Given the description of an element on the screen output the (x, y) to click on. 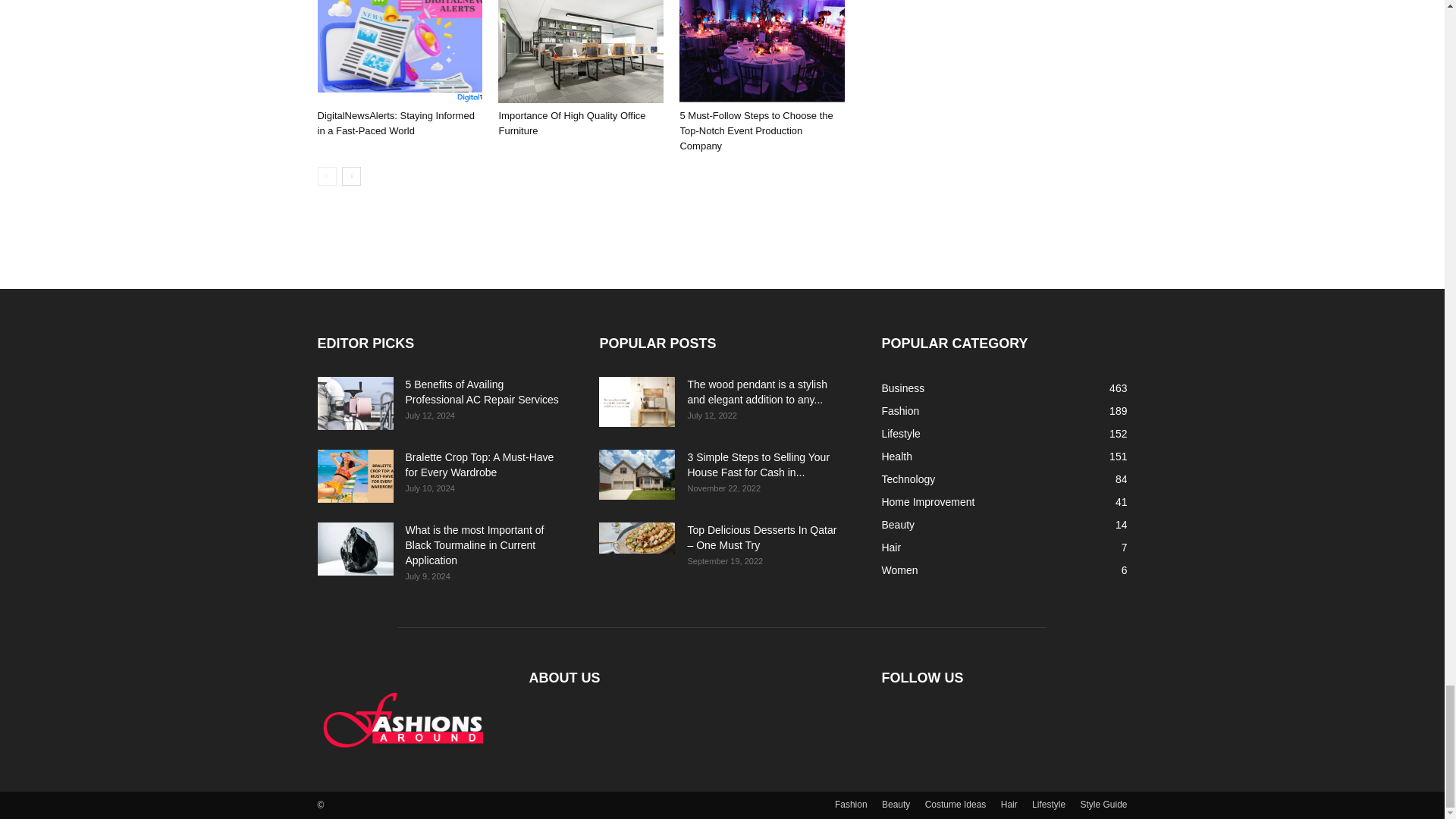
DigitalNewsAlerts: Staying Informed in a Fast-Paced World (399, 51)
DigitalNewsAlerts: Staying Informed in a Fast-Paced World (395, 122)
